Given the description of an element on the screen output the (x, y) to click on. 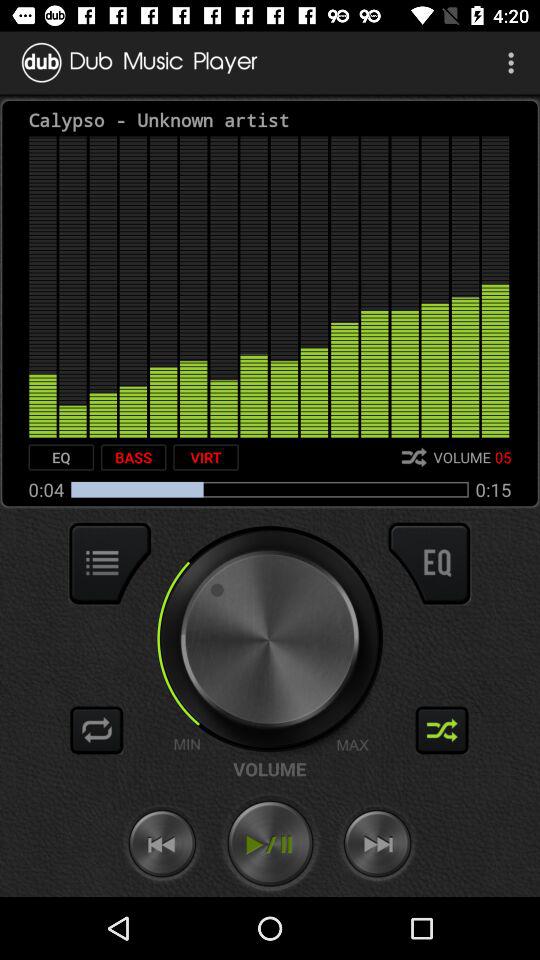
open equalizer (429, 563)
